Given the description of an element on the screen output the (x, y) to click on. 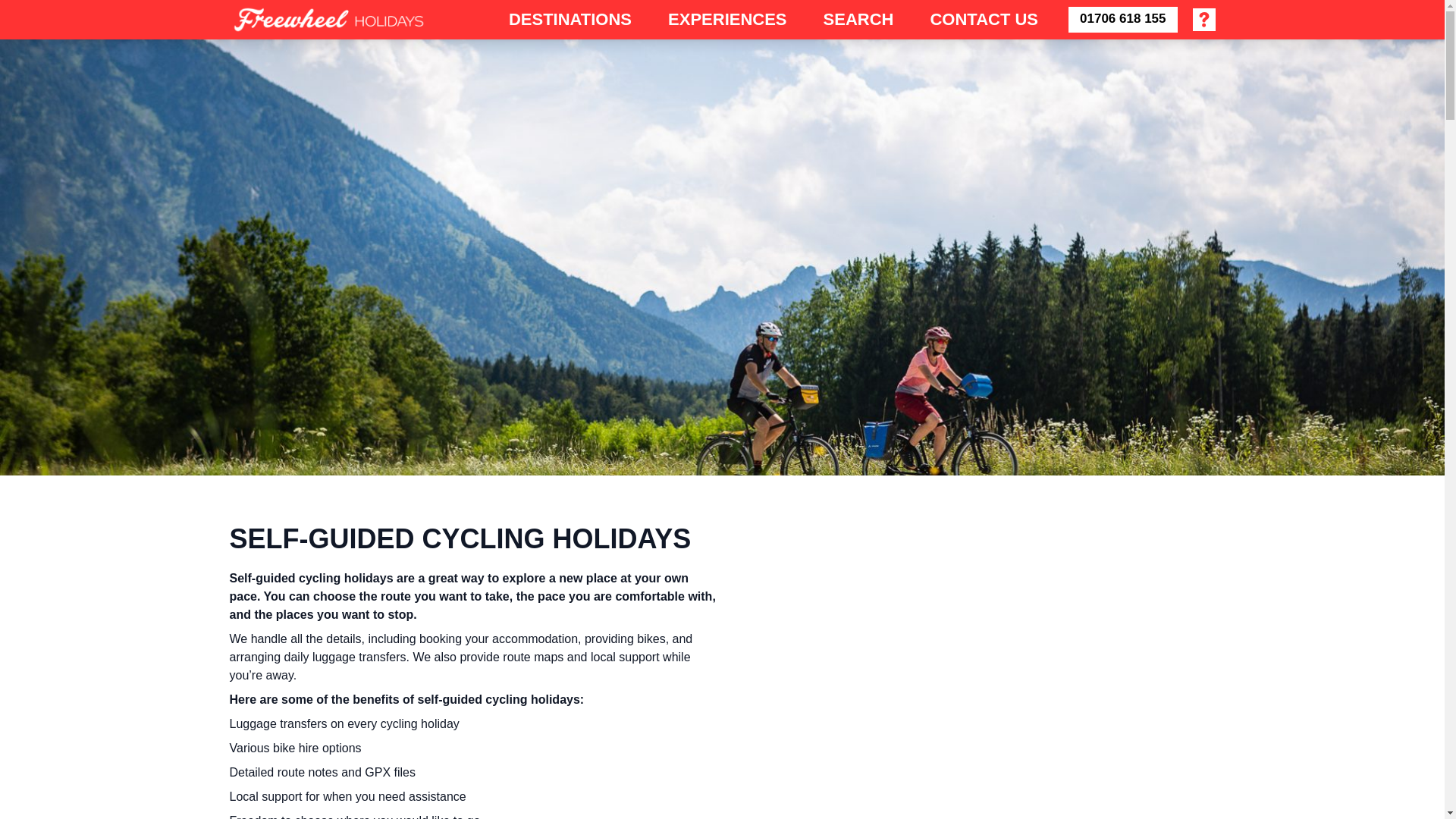
SEARCH (857, 18)
EXPERIENCES (727, 18)
DESTINATIONS (569, 18)
01706 618 155 (1122, 19)
CONTACT US (983, 18)
